Given the description of an element on the screen output the (x, y) to click on. 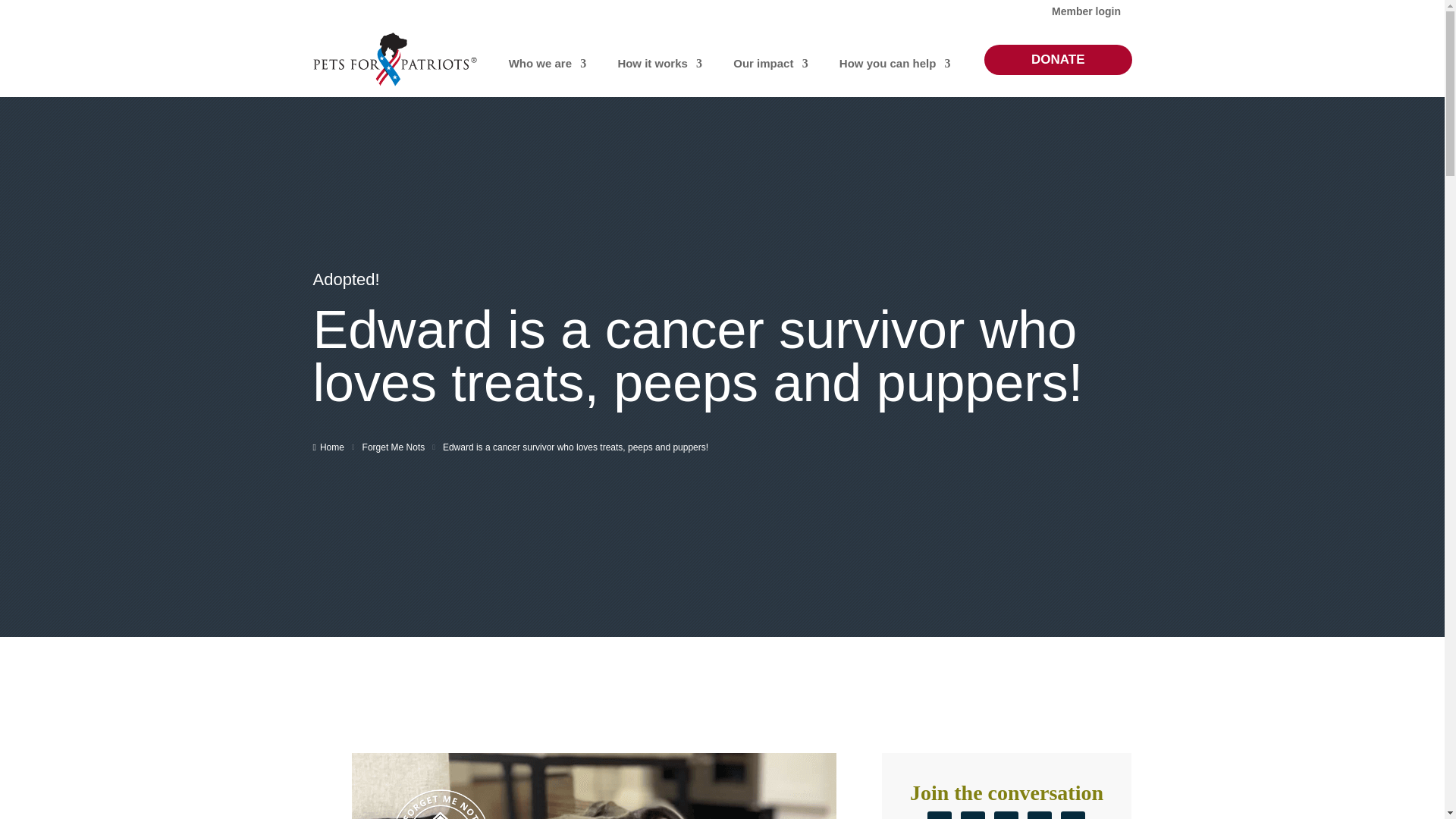
Our impact (763, 62)
Who we are (539, 62)
Member login (1086, 13)
How you can help (887, 62)
Follow on Youtube (1072, 815)
Follow on X (939, 815)
How it works (651, 62)
pets-for-patriots (394, 59)
Follow on Pinterest (1005, 815)
Follow on Facebook (972, 815)
Follow on Instagram (1039, 815)
